Given the description of an element on the screen output the (x, y) to click on. 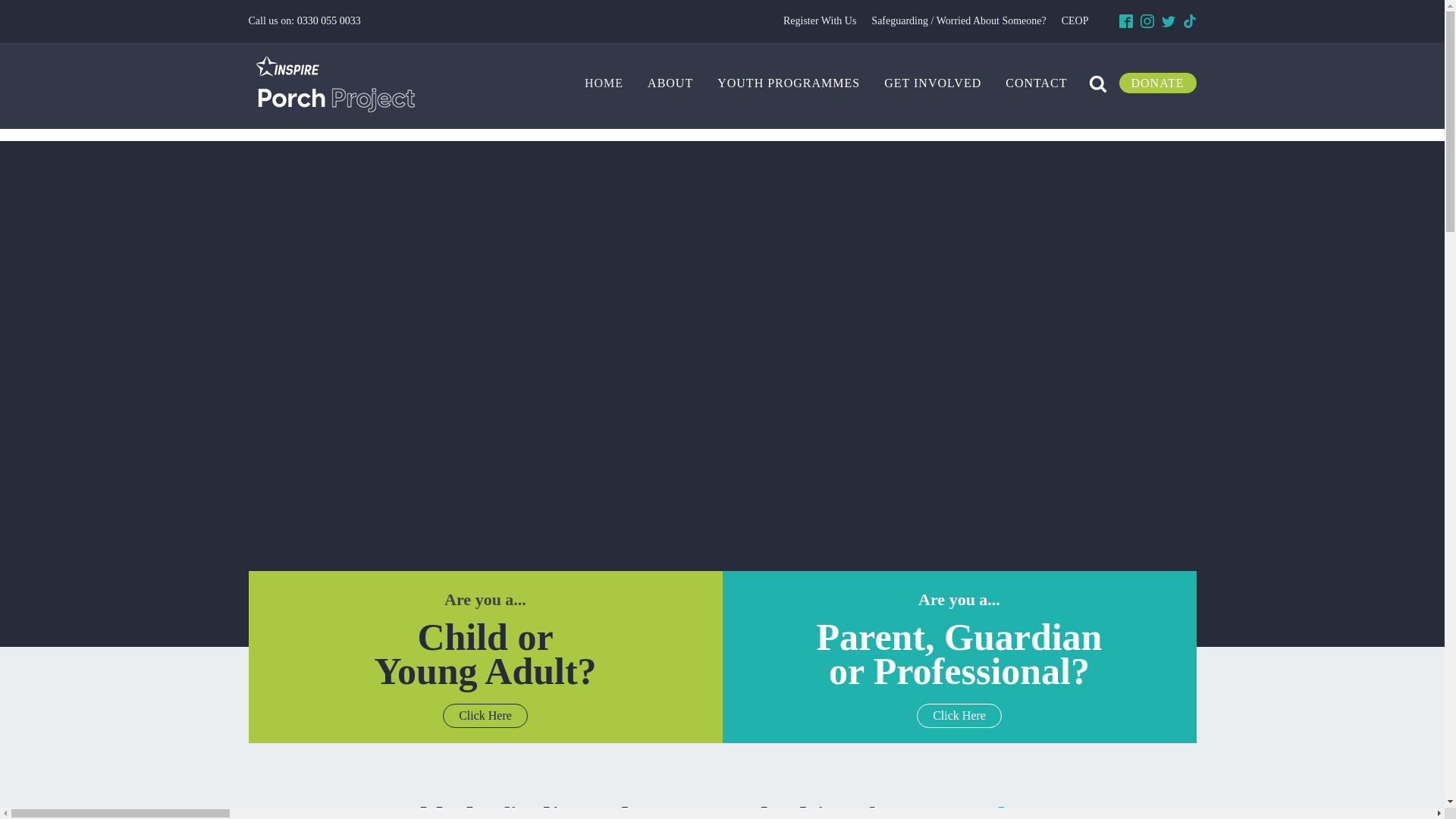
CEOP (1075, 21)
DONATE (1157, 83)
CONTACT (1035, 83)
HOME (603, 83)
YOUTH PROGRAMMES (788, 83)
ABOUT (669, 83)
GET INVOLVED (932, 83)
Search (25, 9)
Register With Us (819, 21)
